Given the description of an element on the screen output the (x, y) to click on. 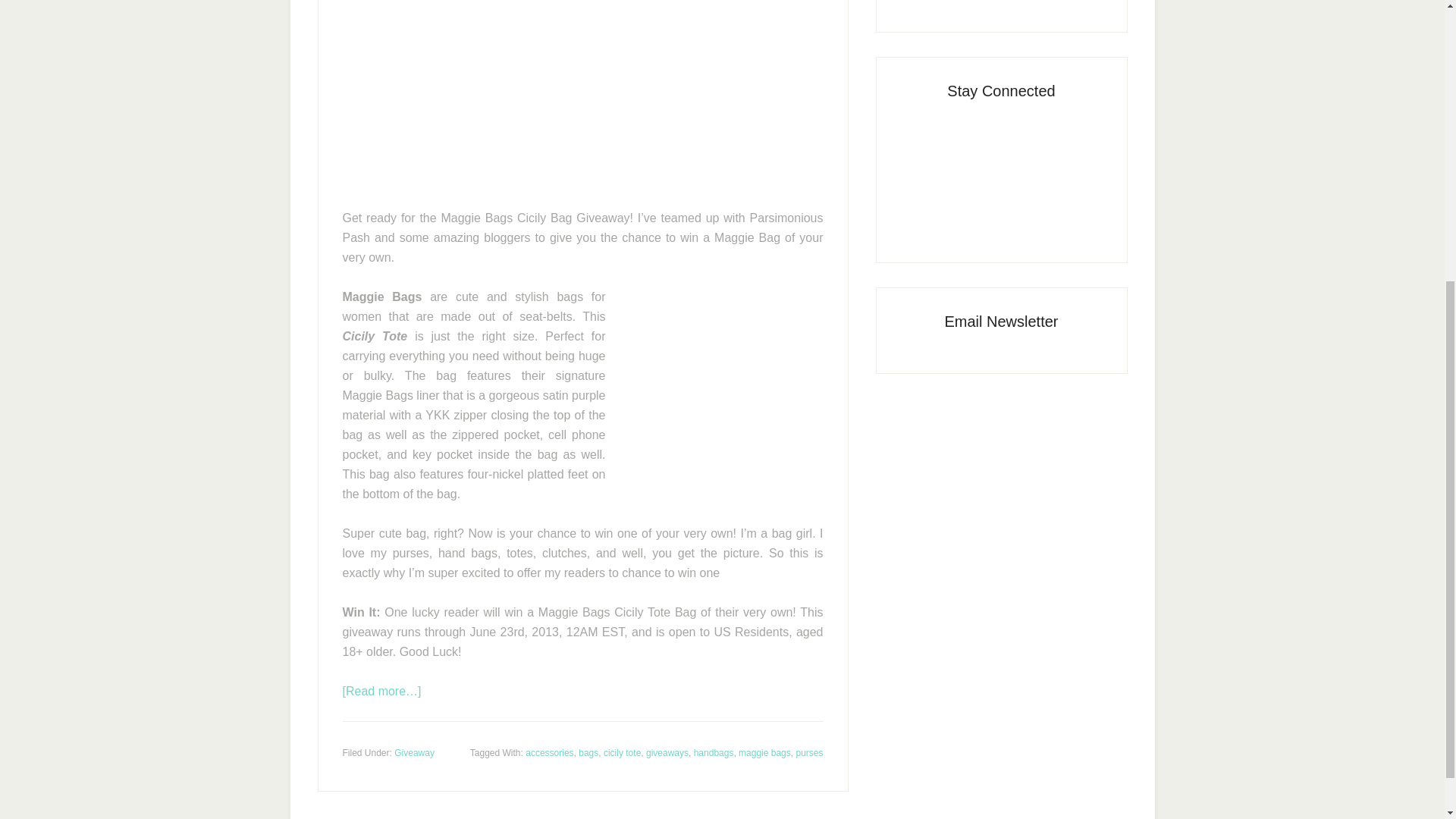
Giveaway (413, 752)
handbags (713, 752)
cicily tote (622, 752)
purses (808, 752)
giveaways (667, 752)
maggie bags (764, 752)
bags (588, 752)
accessories (549, 752)
